Given the description of an element on the screen output the (x, y) to click on. 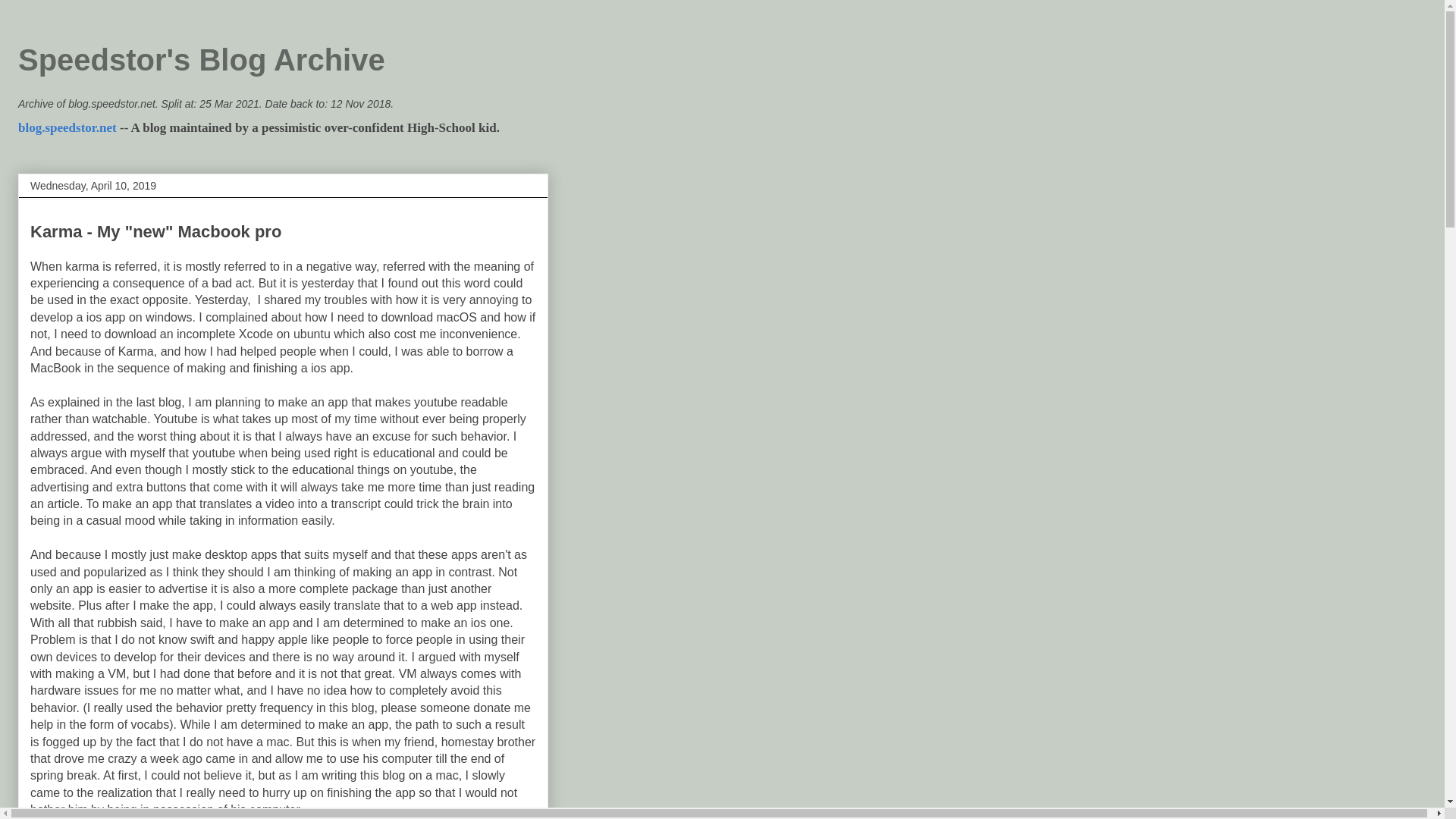
blog.speedstor.net (66, 127)
Speedstor's Blog Archive (201, 59)
